Given the description of an element on the screen output the (x, y) to click on. 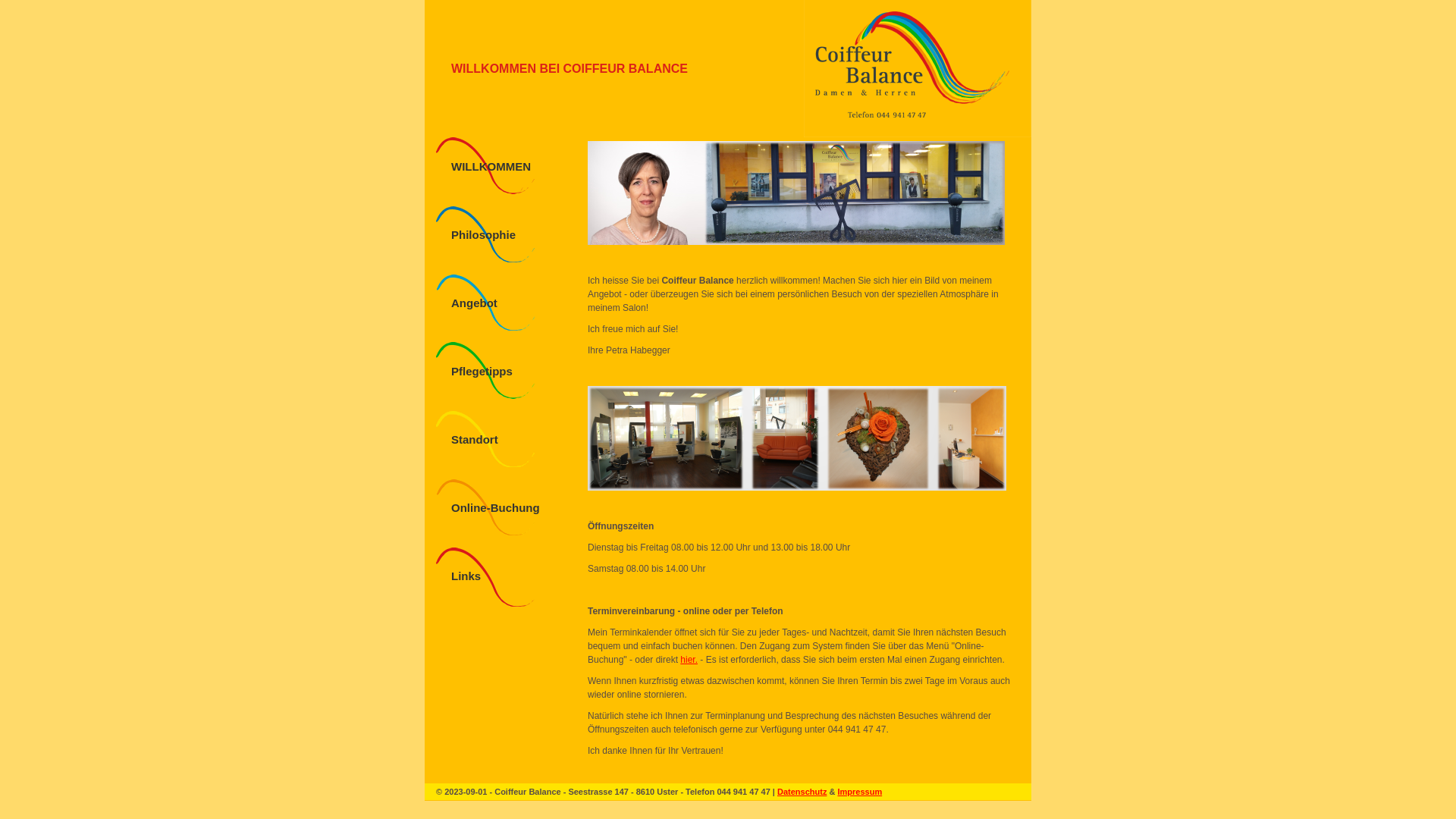
Datenschutz Element type: text (801, 791)
Links Element type: text (465, 575)
WILLKOMMEN Element type: text (490, 166)
Angebot Element type: text (474, 302)
Standort Element type: text (474, 439)
Philosophie Element type: text (483, 234)
hier. Element type: text (688, 659)
Pflegetipps Element type: text (481, 370)
Impressum Element type: text (859, 791)
Online-Buchung Element type: text (495, 507)
